Given the description of an element on the screen output the (x, y) to click on. 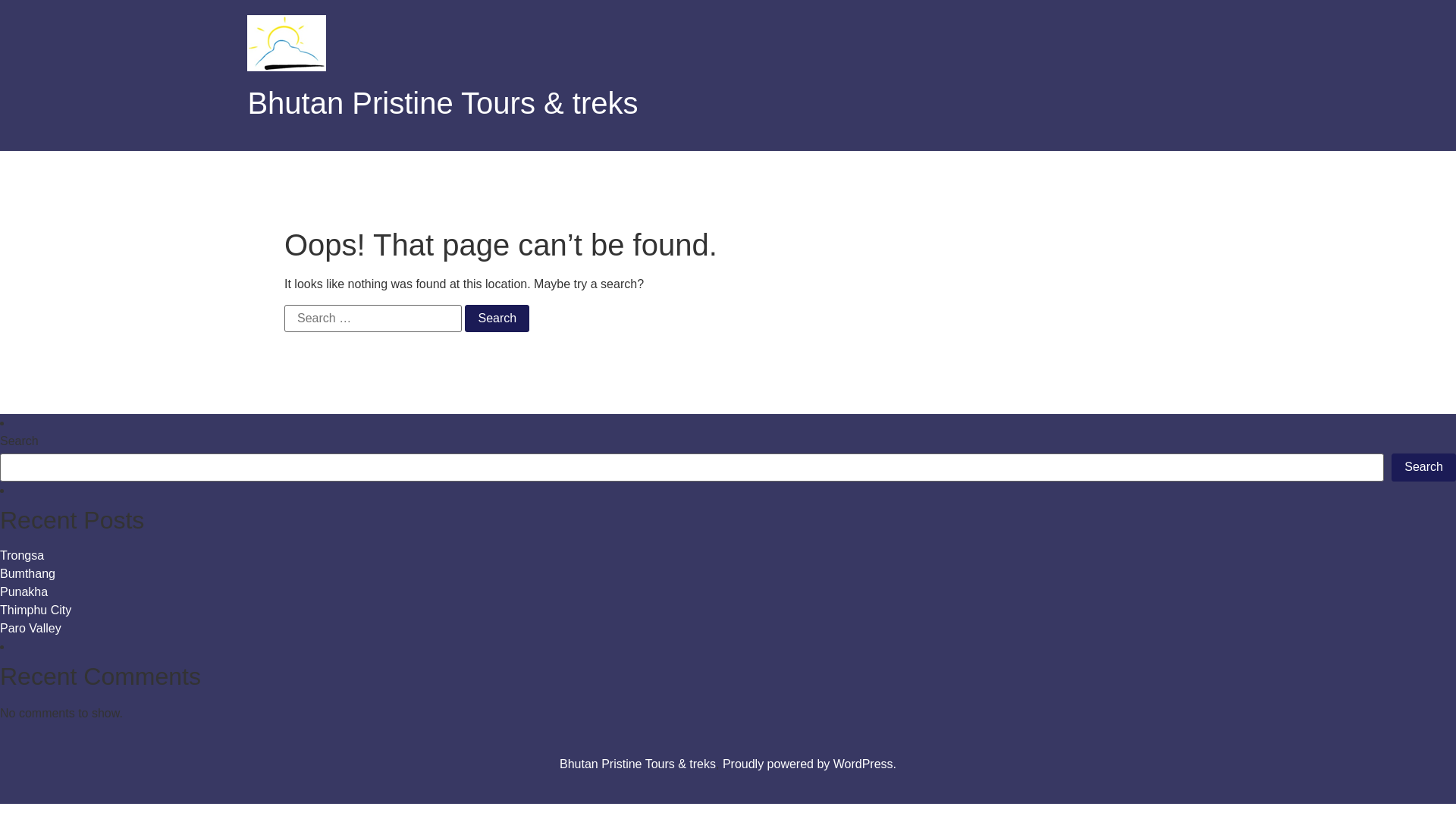
Bhutan Pristine Tours & treks Element type: text (442, 102)
Bumthang Element type: text (27, 573)
Proudly powered by WordPress. Element type: text (809, 763)
Search Element type: text (496, 318)
Punakha Element type: text (23, 591)
Thimphu City Element type: text (35, 609)
Trongsa Element type: text (21, 555)
Paro Valley Element type: text (30, 627)
Bhutan Pristine Tours & treks Element type: text (637, 763)
